Given the description of an element on the screen output the (x, y) to click on. 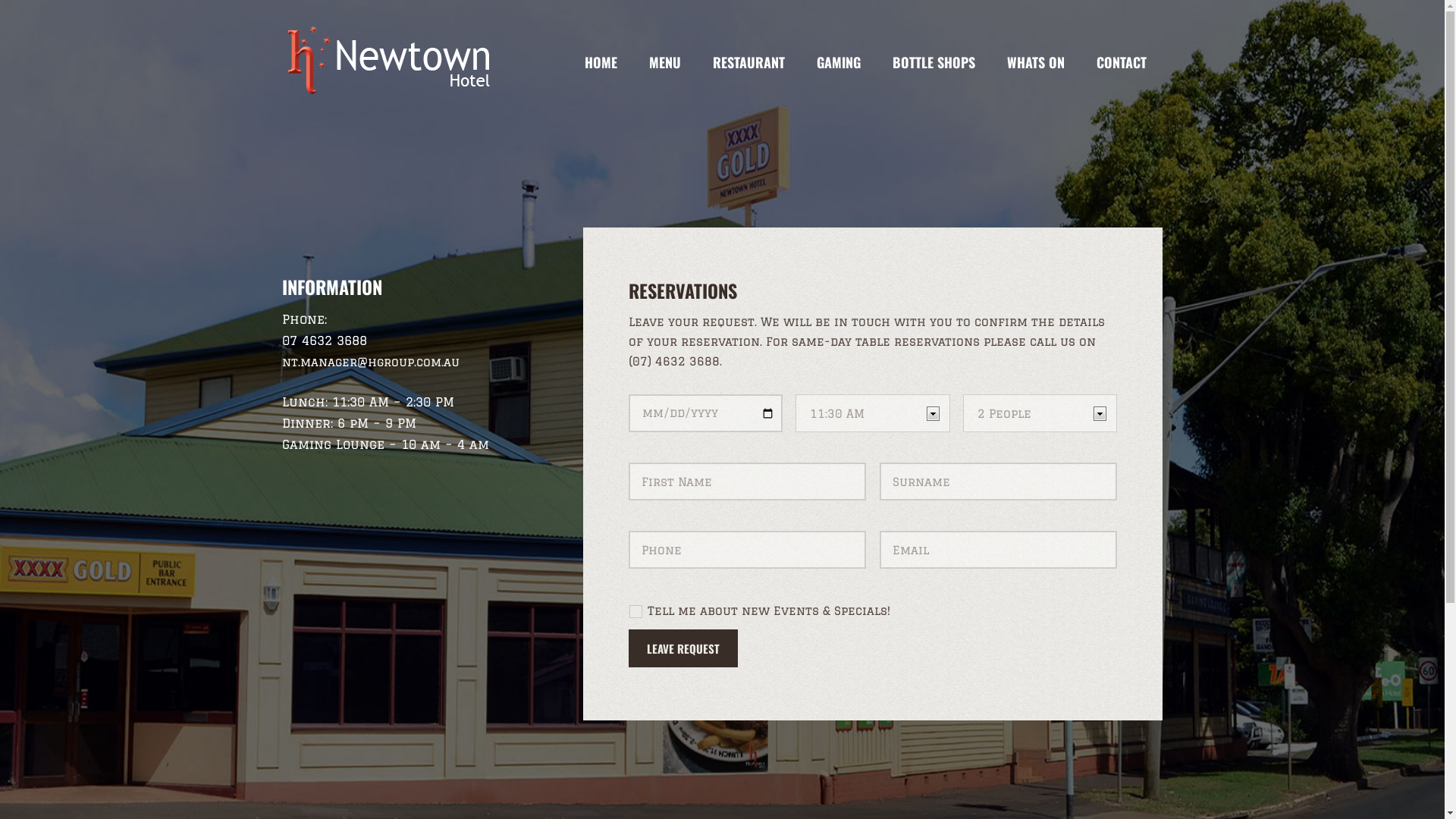
MENU Element type: text (664, 61)
WHATS ON Element type: text (1034, 61)
GAMING Element type: text (838, 61)
HOME Element type: text (600, 61)
BOTTLE SHOPS Element type: text (933, 61)
CONTACT Element type: text (1120, 61)
RESTAURANT Element type: text (748, 61)
nt.manager@hgroup.com.au Element type: text (370, 361)
Leave Request Element type: text (682, 648)
